Given the description of an element on the screen output the (x, y) to click on. 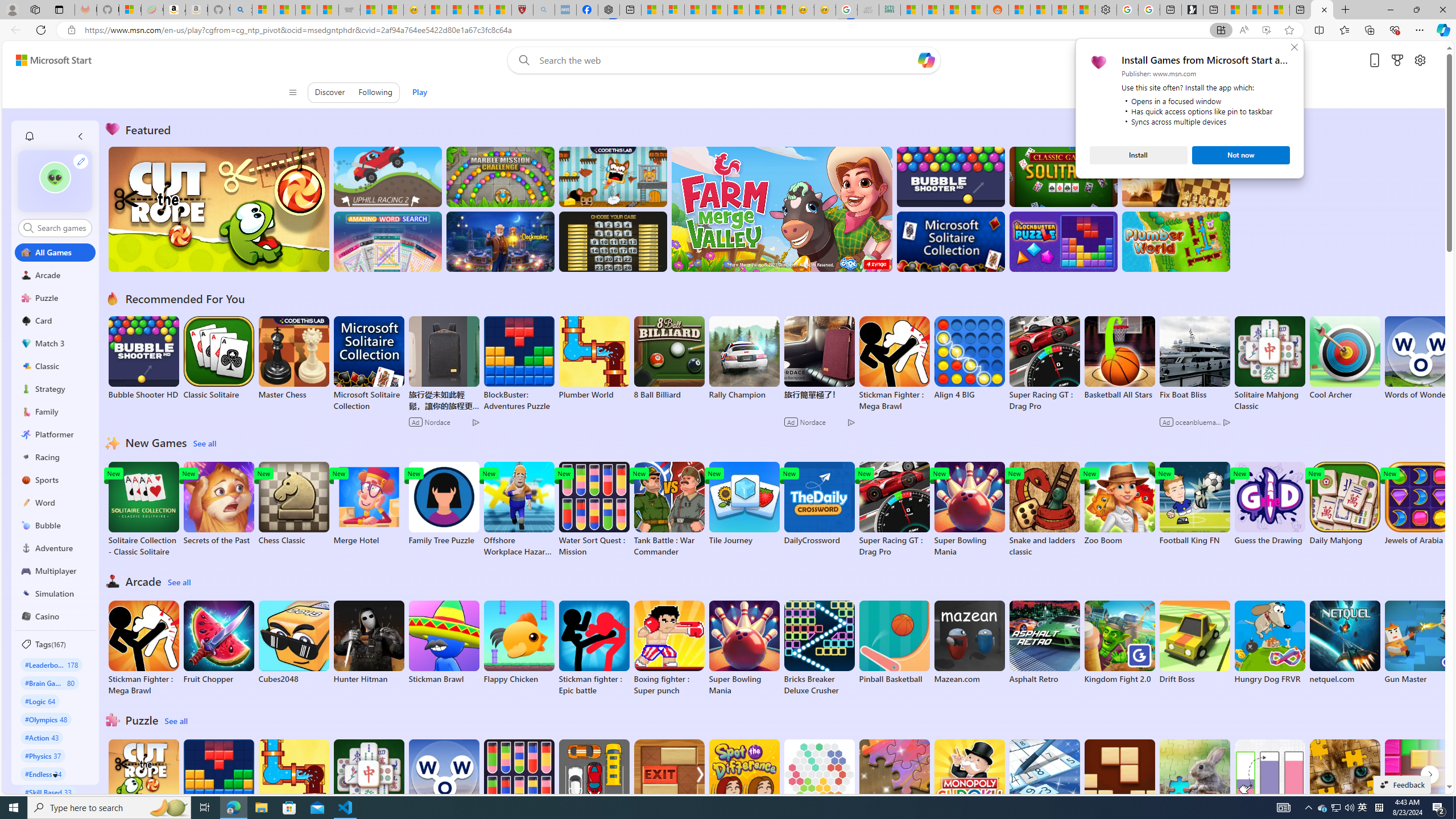
Running applications (700, 807)
#Logic 64 (39, 700)
#Action 43 (42, 737)
Cool Archer (1344, 358)
#Physics 37 (42, 755)
